Given the description of an element on the screen output the (x, y) to click on. 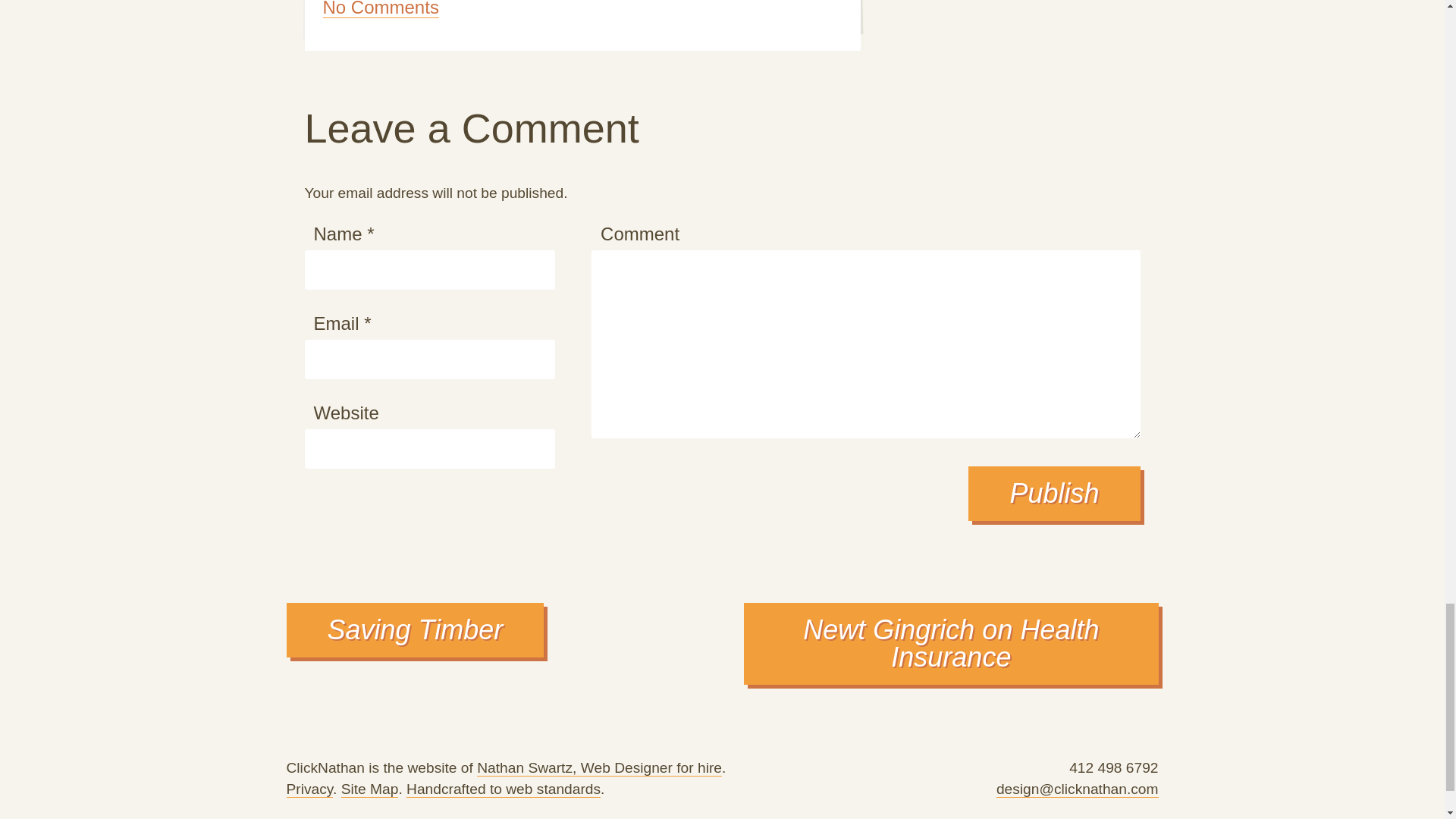
Saving Timber (415, 629)
Publish (1054, 493)
Nathan Swartz, Web Designer for hire (599, 768)
No Comments (381, 9)
Newt Gingrich on Health Insurance (950, 643)
Site Map (369, 789)
Publish (1054, 493)
Handcrafted to web standards (502, 789)
Privacy (309, 789)
